Given the description of an element on the screen output the (x, y) to click on. 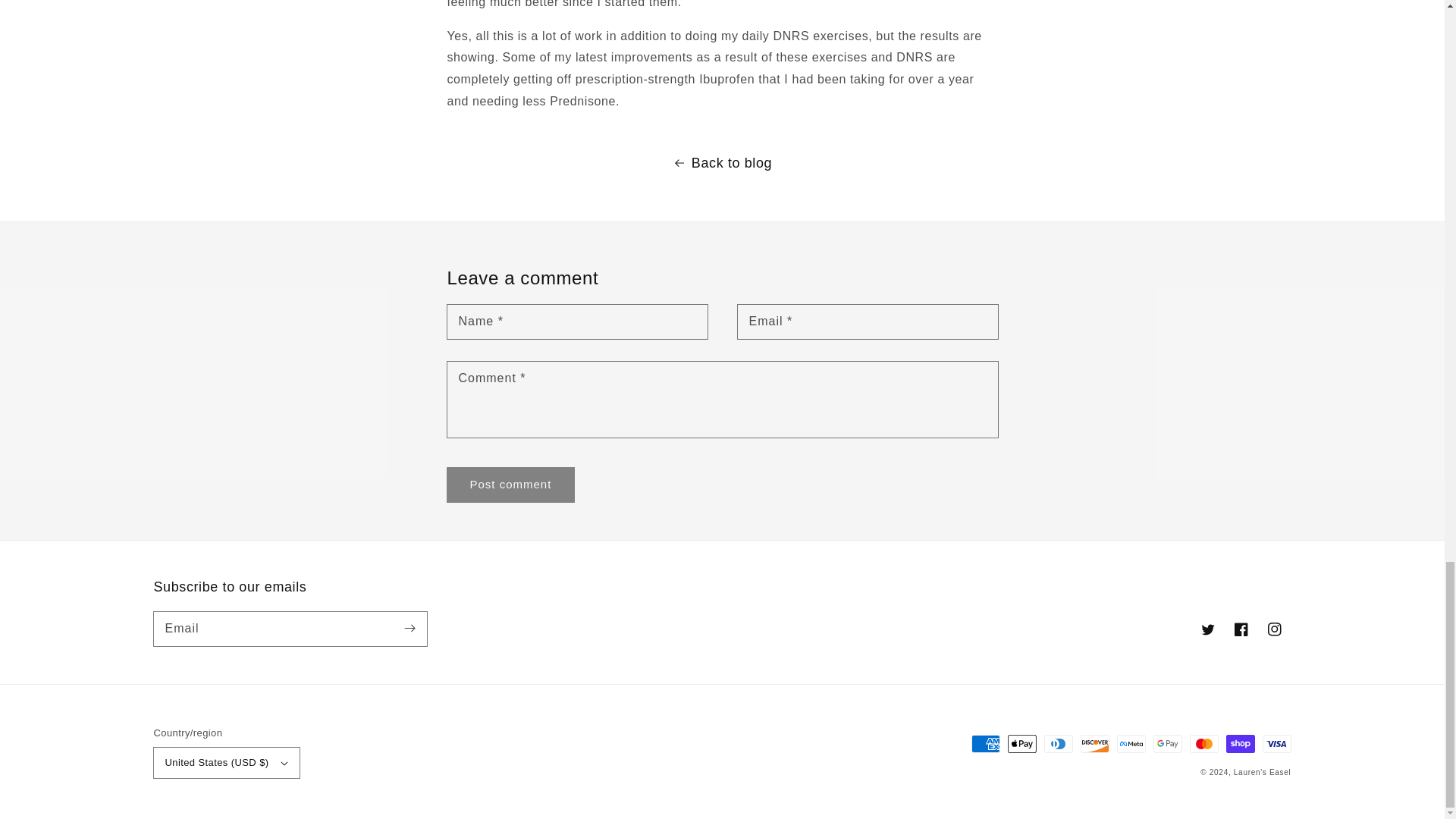
Facebook (1240, 629)
Instagram (1273, 629)
Post comment (510, 484)
Twitter (1207, 629)
Post comment (510, 484)
